Given the description of an element on the screen output the (x, y) to click on. 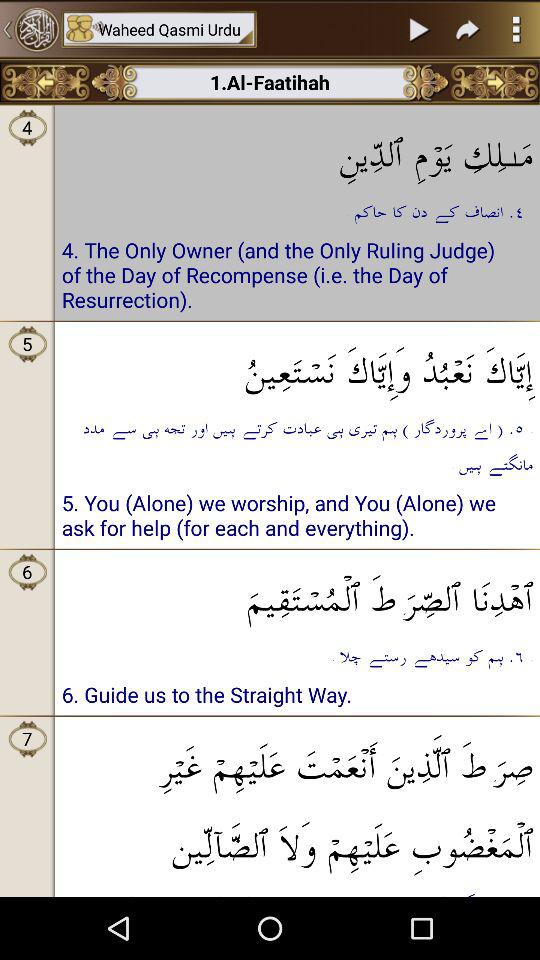
go back (30, 29)
